Given the description of an element on the screen output the (x, y) to click on. 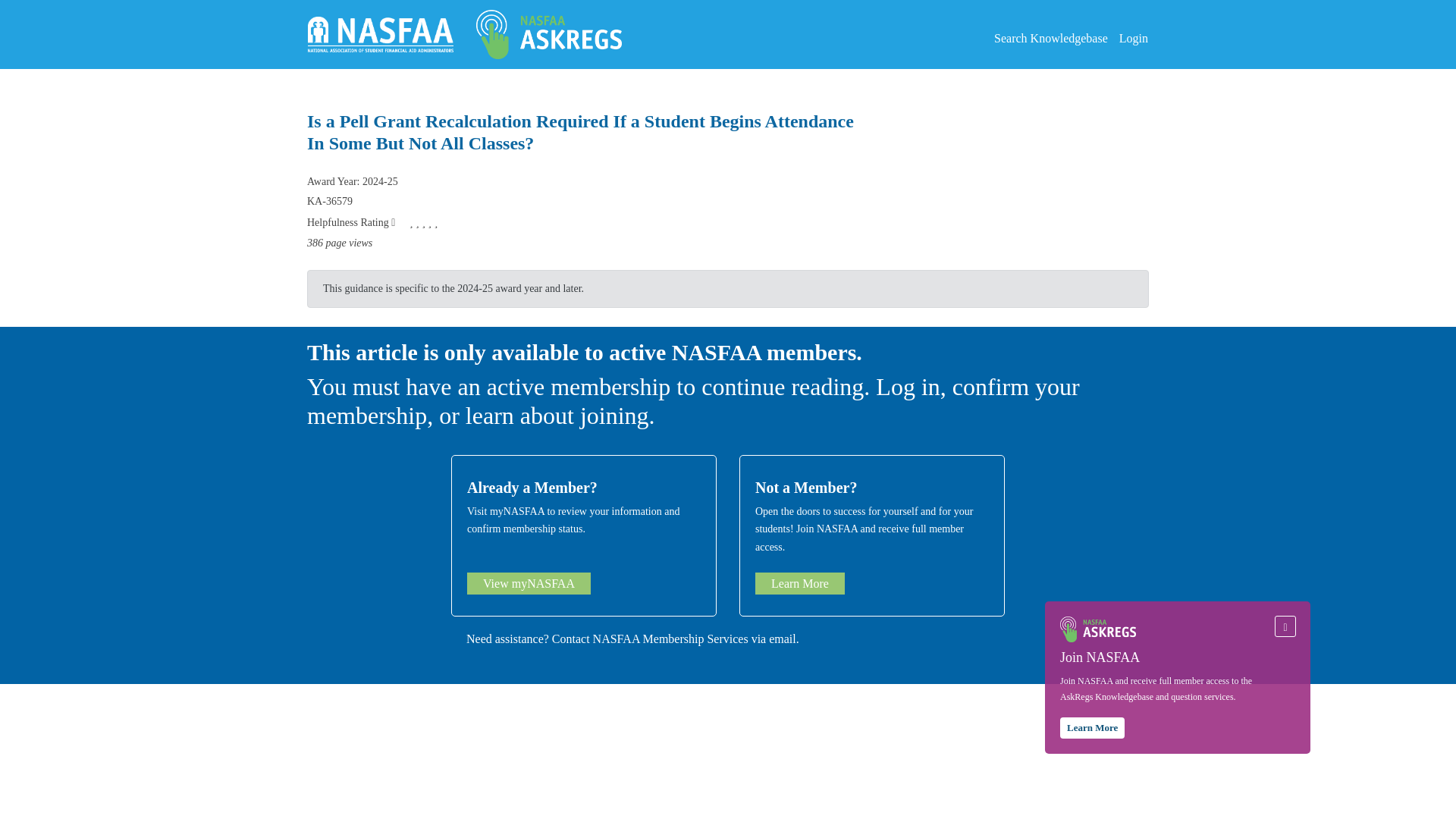
Login (1128, 38)
Search Knowledgebase (1045, 38)
